Given the description of an element on the screen output the (x, y) to click on. 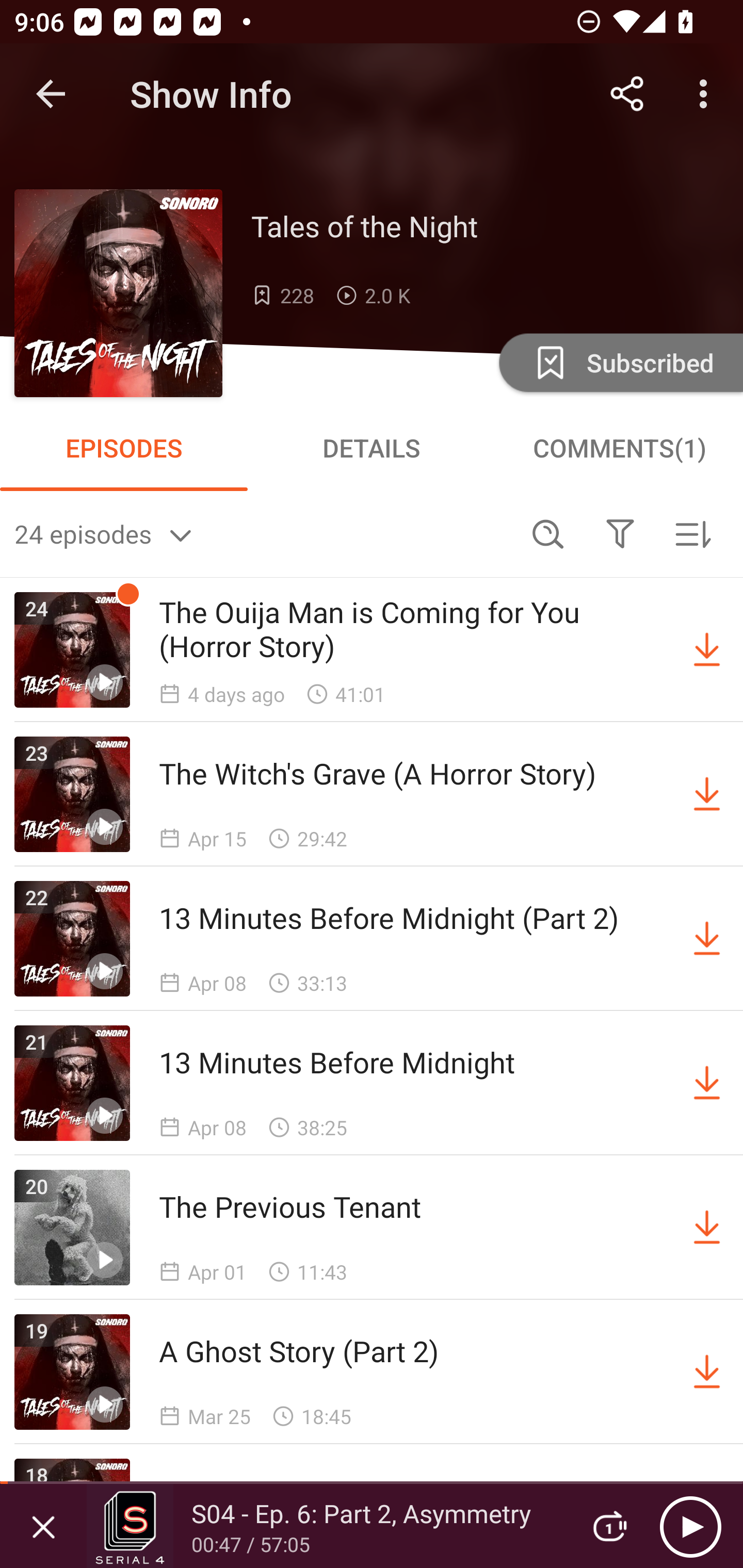
Navigate up (50, 93)
Share (626, 93)
More options (706, 93)
Unsubscribe Subscribed (619, 361)
EPISODES (123, 447)
DETAILS (371, 447)
COMMENTS(1) (619, 447)
24 episodes  (262, 533)
 Search (547, 533)
 (619, 533)
 Sorted by newest first (692, 533)
Download (706, 649)
Download (706, 793)
Download (706, 939)
Download (706, 1083)
Download (706, 1227)
Download (706, 1371)
S04 - Ep. 6: Part 2, Asymmetry 00:47 / 57:05 (326, 1525)
Play (690, 1526)
